Given the description of an element on the screen output the (x, y) to click on. 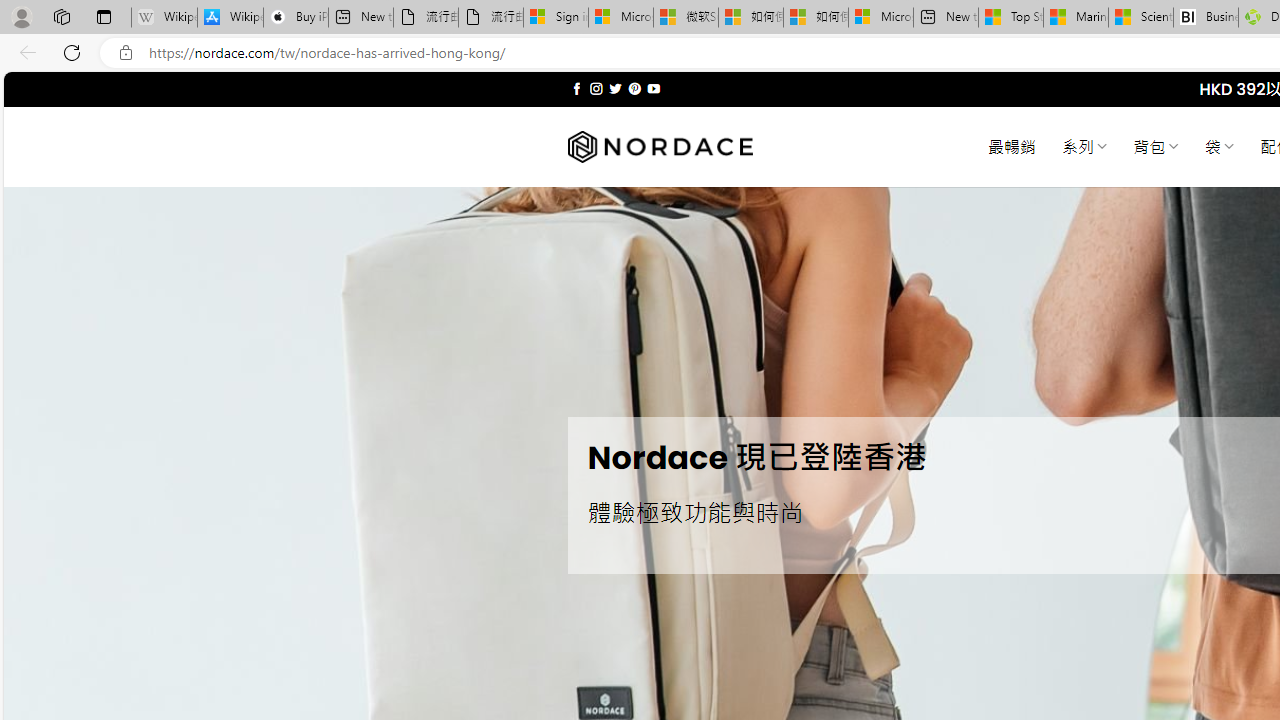
Follow on Pinterest (634, 88)
